Given the description of an element on the screen output the (x, y) to click on. 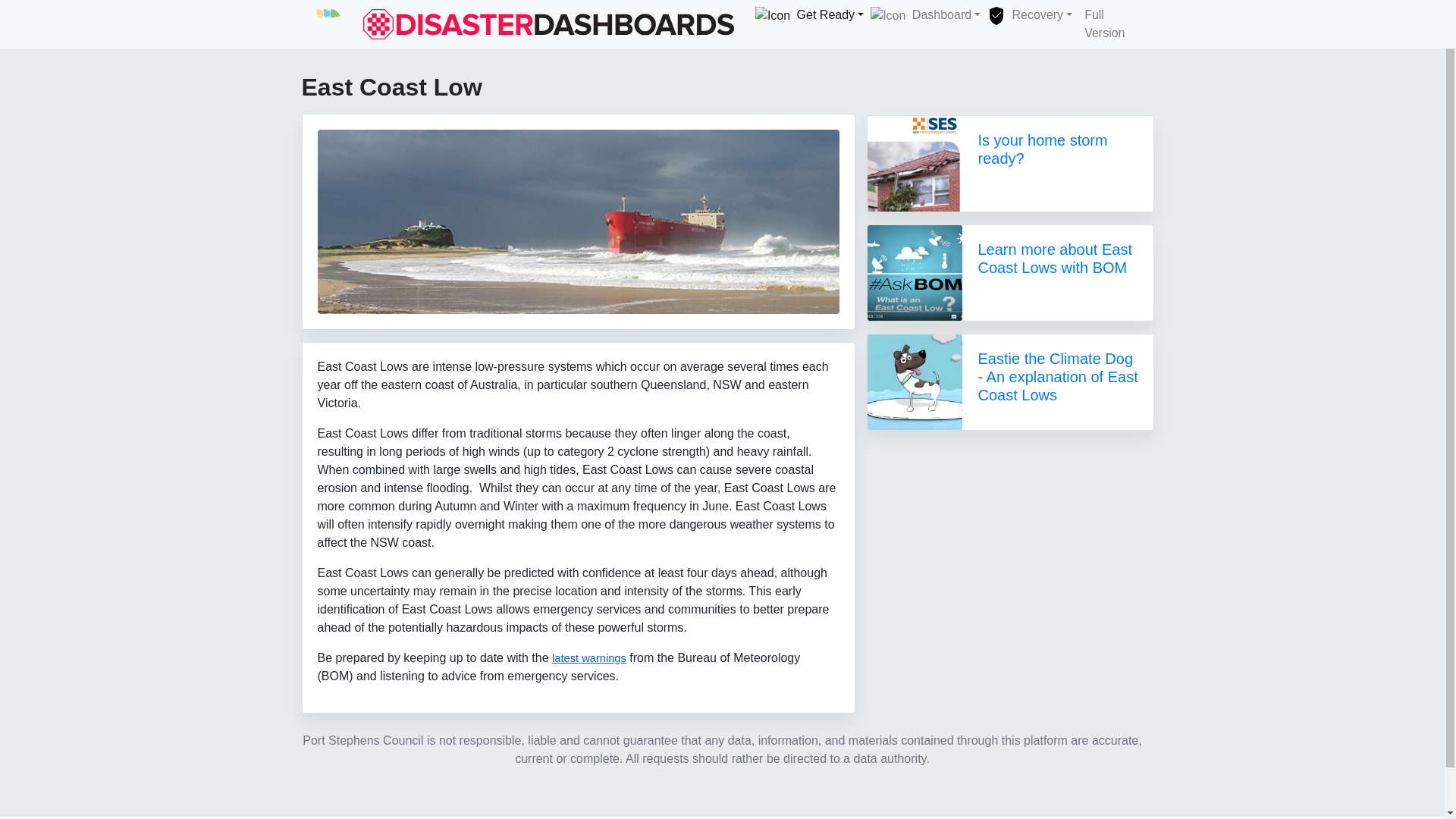
Dashboard (919, 15)
Get Ready (803, 15)
Recovery (1028, 15)
